Given the description of an element on the screen output the (x, y) to click on. 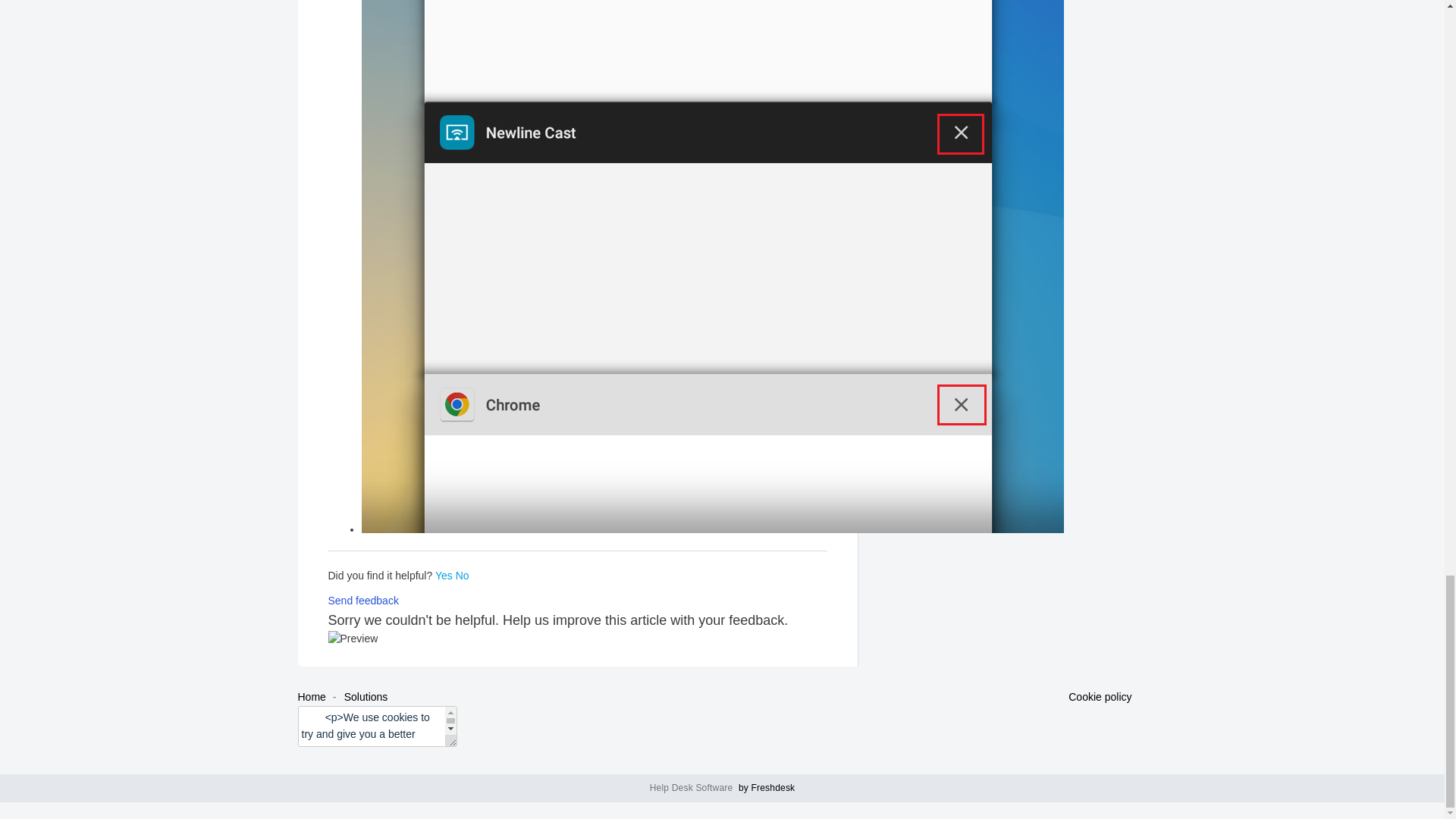
Send feedback (362, 600)
Help Desk Software (693, 787)
Solutions (365, 696)
Why we love Cookies (1099, 697)
Cookie policy (1099, 697)
Home (310, 696)
